Given the description of an element on the screen output the (x, y) to click on. 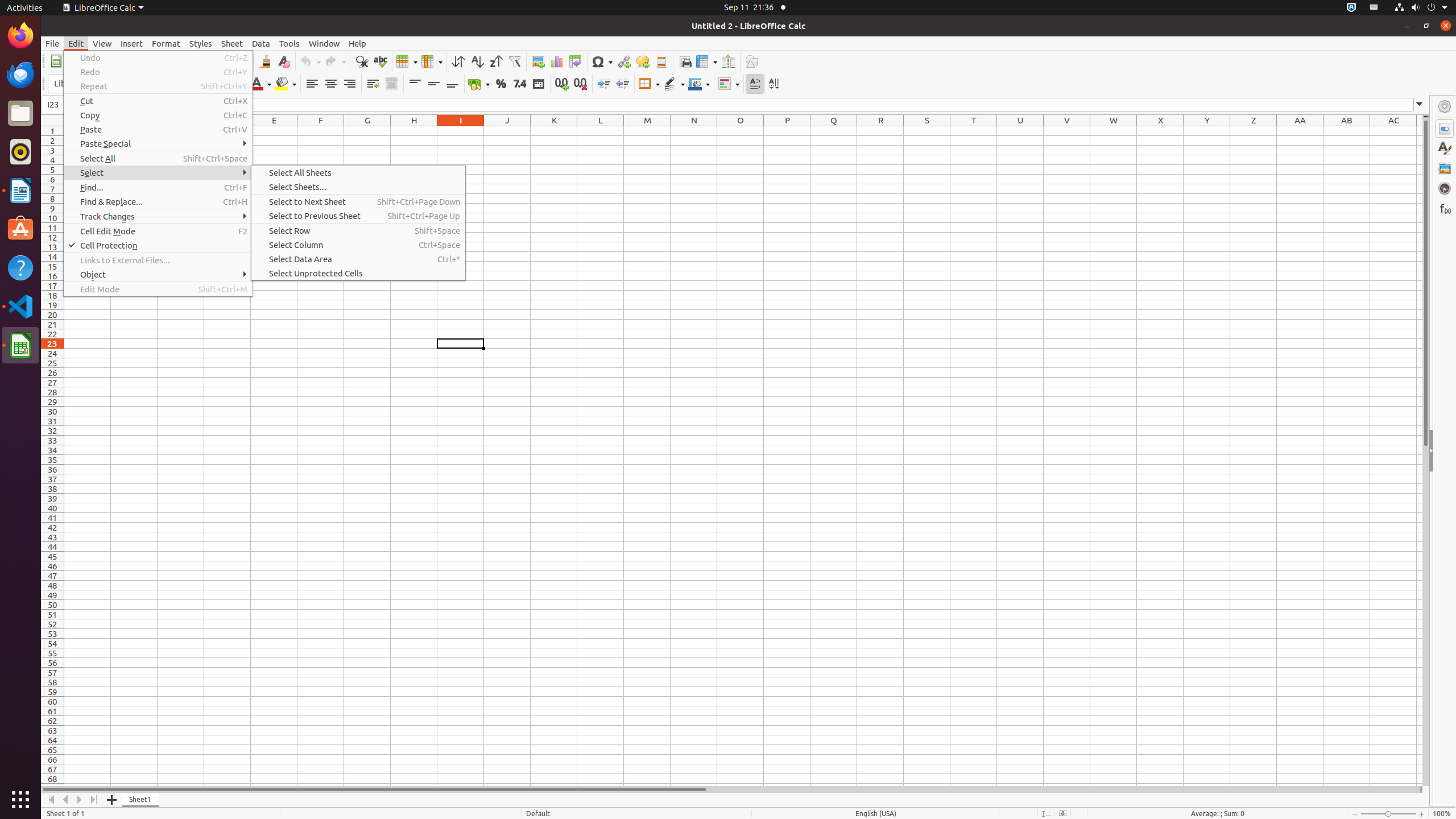
Undo Element type: menu-item (157, 57)
Object Element type: menu (157, 274)
Cell Edit Mode Element type: menu-item (157, 231)
Image Element type: push-button (537, 61)
